Given the description of an element on the screen output the (x, y) to click on. 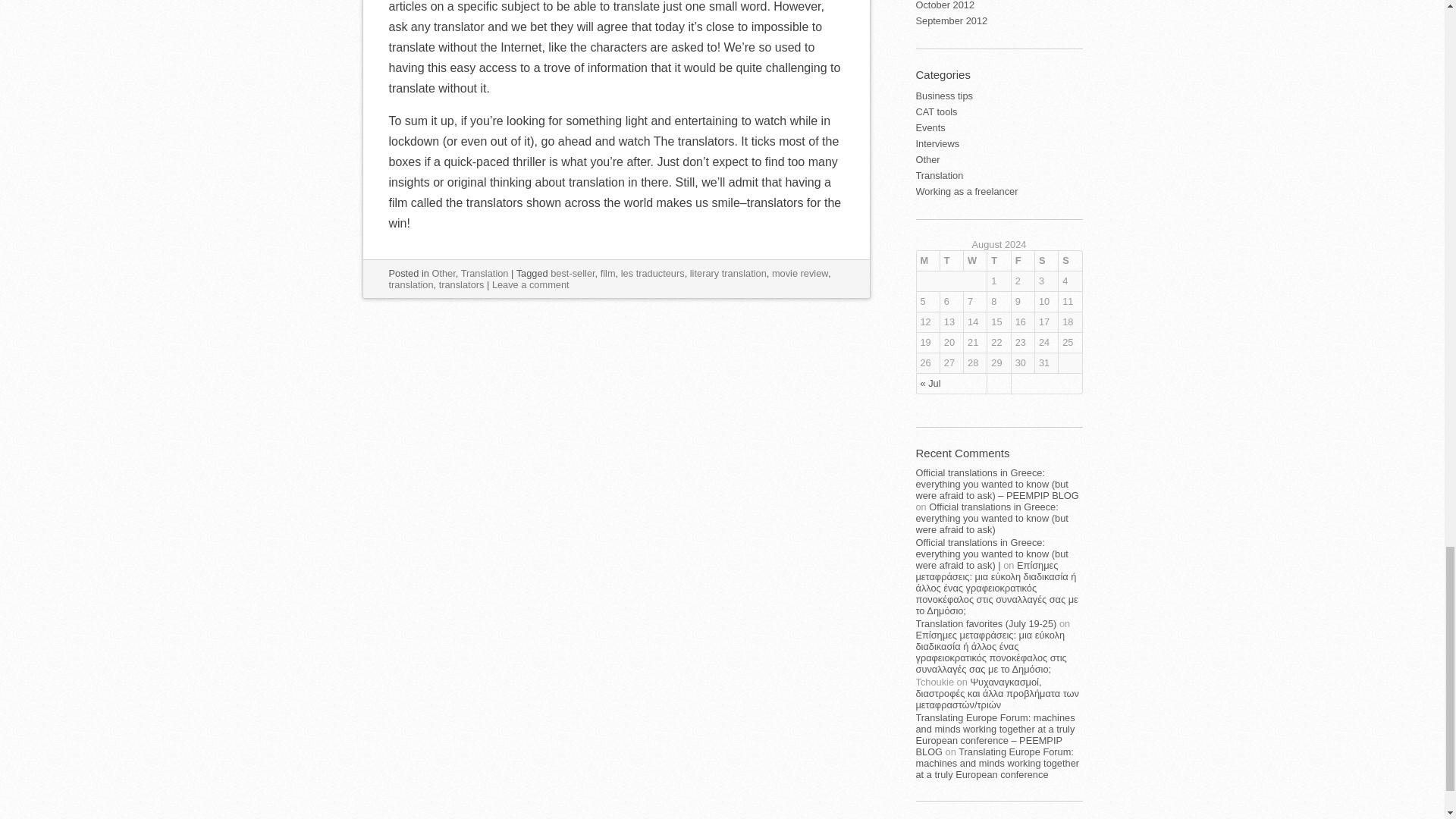
translators (461, 284)
film (607, 273)
literary translation (728, 273)
Other (442, 273)
Friday (1021, 260)
Tuesday (950, 260)
Thursday (998, 260)
Leave a comment (530, 284)
best-seller (572, 273)
les traducteurs (652, 273)
